Given the description of an element on the screen output the (x, y) to click on. 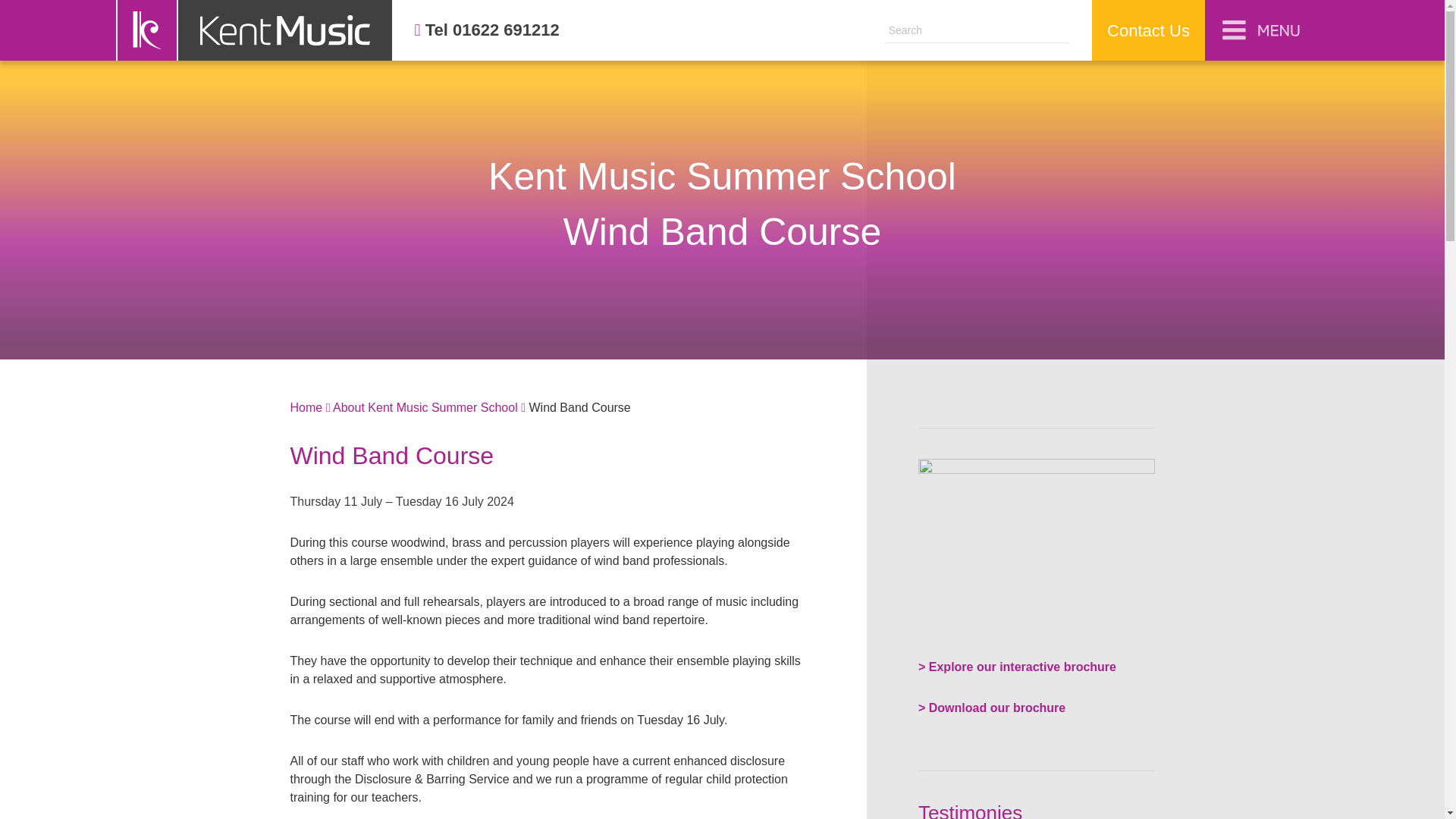
Tel 01622 691212 (486, 29)
Contact Us (1147, 30)
